Given the description of an element on the screen output the (x, y) to click on. 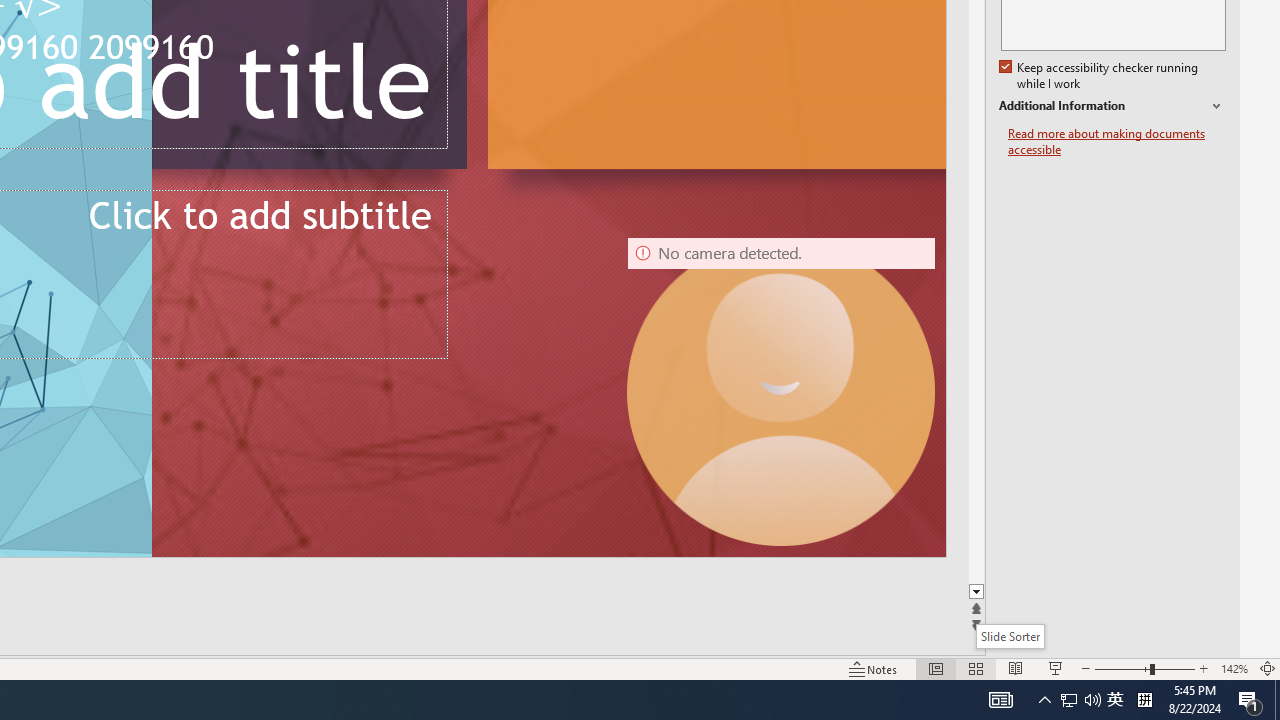
Slide Sorter (975, 668)
Zoom Out (1121, 668)
Additional Information (1112, 106)
Line down (978, 592)
Zoom 142% (1234, 668)
Slide Sorter (1009, 636)
Read more about making documents accessible (1117, 142)
Notes  (874, 668)
Reading View (1015, 668)
Keep accessibility checker running while I work (1099, 76)
Zoom In (1204, 668)
Normal (936, 668)
Zoom to Fit  (1267, 668)
Zoom (1144, 668)
